Given the description of an element on the screen output the (x, y) to click on. 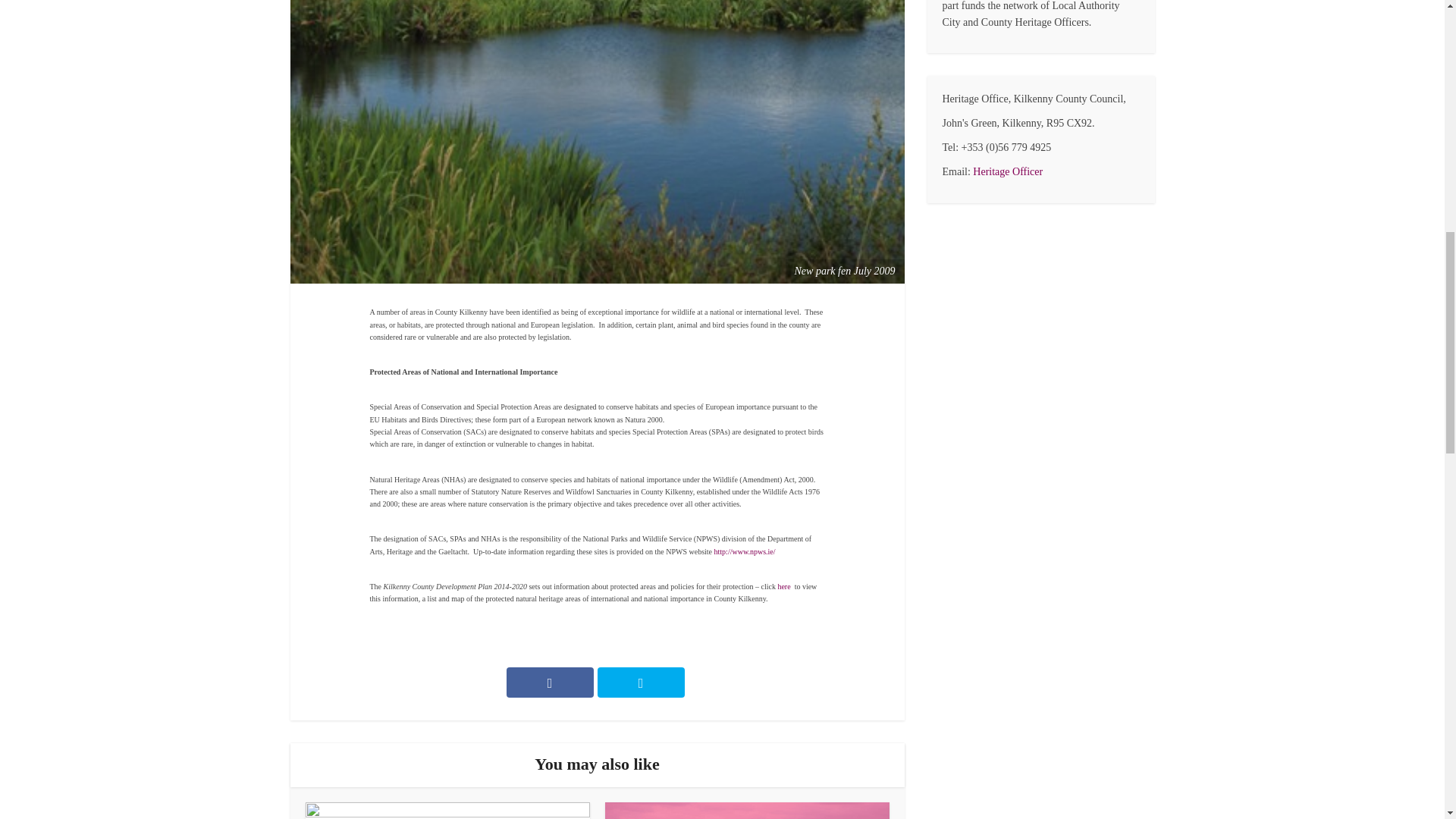
here (783, 586)
